Given the description of an element on the screen output the (x, y) to click on. 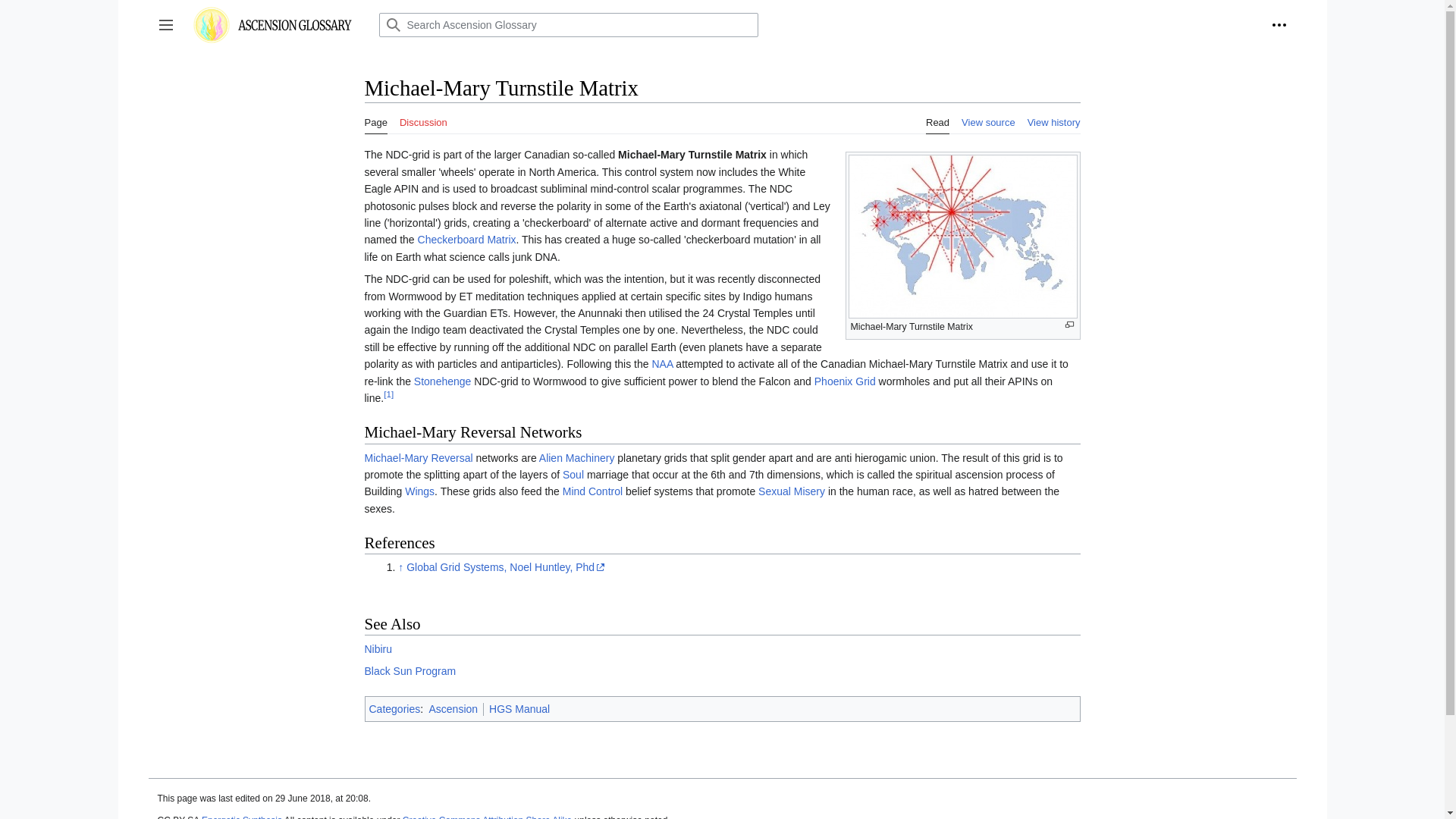
Discussion (422, 118)
Main menu (165, 24)
Soul (572, 474)
Wings (418, 491)
Go (392, 24)
Stonehenge (442, 381)
Michael-Mary Reversal (417, 458)
Michael-Mary Turnstile Matrix (692, 154)
Phoenix Grid (844, 381)
Search (392, 24)
Alien Machinery (576, 458)
Search (392, 24)
Page (375, 118)
More options (1279, 24)
Mind Control (592, 491)
